Given the description of an element on the screen output the (x, y) to click on. 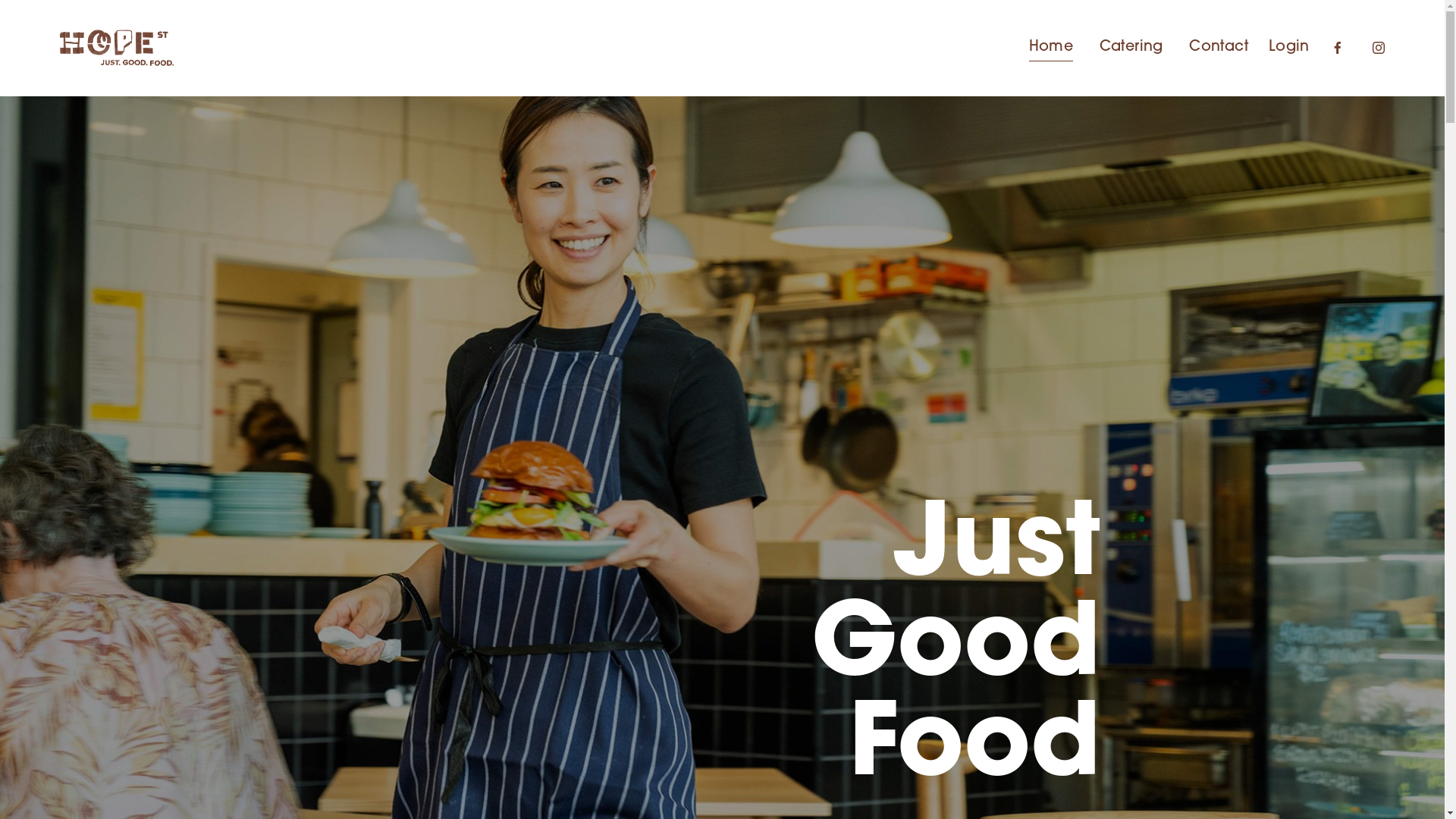
Login Element type: text (1288, 47)
Home Element type: text (1051, 47)
Contact Element type: text (1218, 47)
Catering Element type: text (1131, 47)
